Given the description of an element on the screen output the (x, y) to click on. 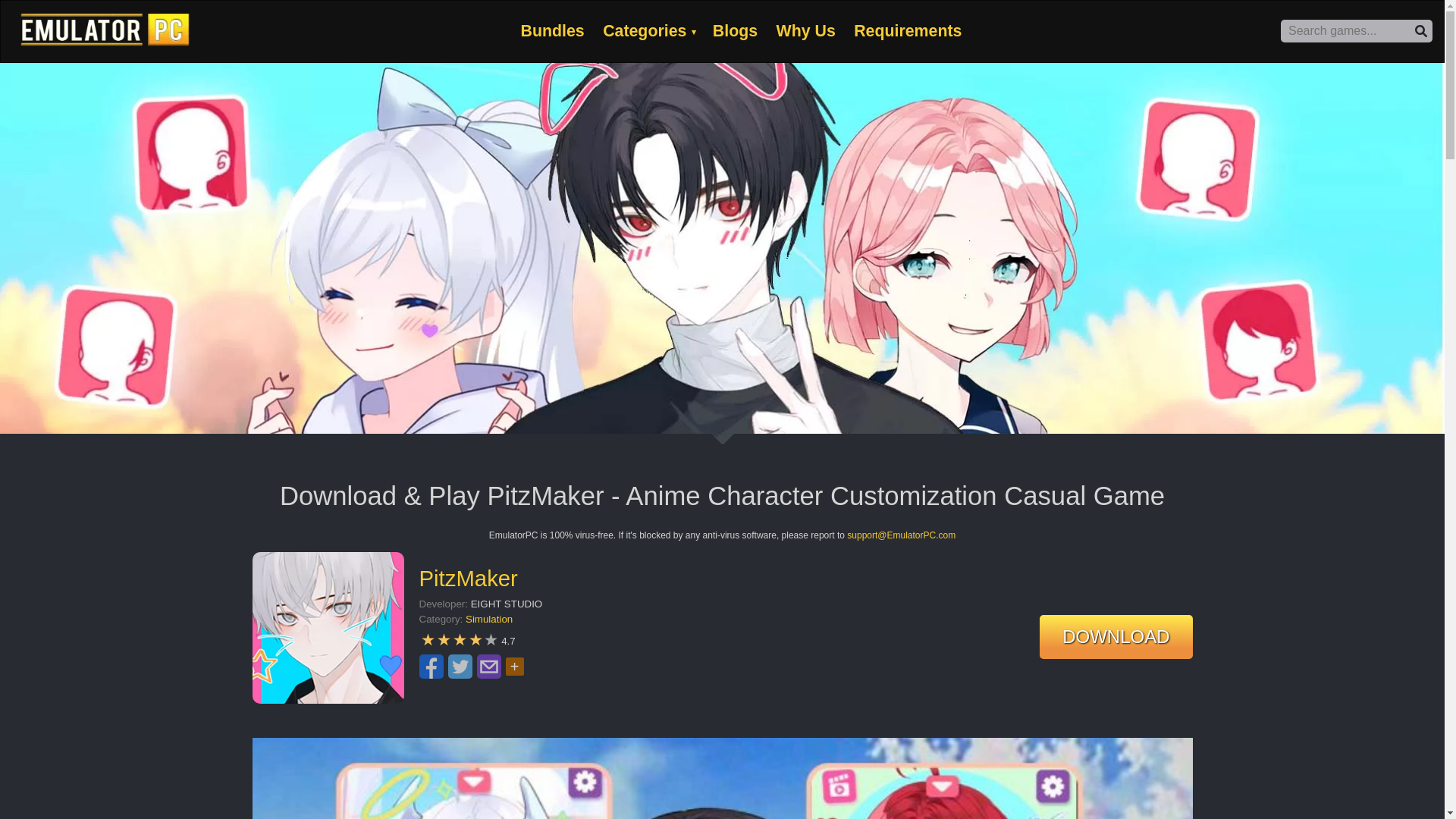
Copy Link (684, 680)
EmulatorPC (106, 28)
Blogs (735, 31)
Email (488, 666)
Twitter (458, 666)
DOWNLOAD (1115, 637)
Categories (643, 31)
Why Us (805, 31)
Requirements (906, 31)
Bundles (553, 31)
